Given the description of an element on the screen output the (x, y) to click on. 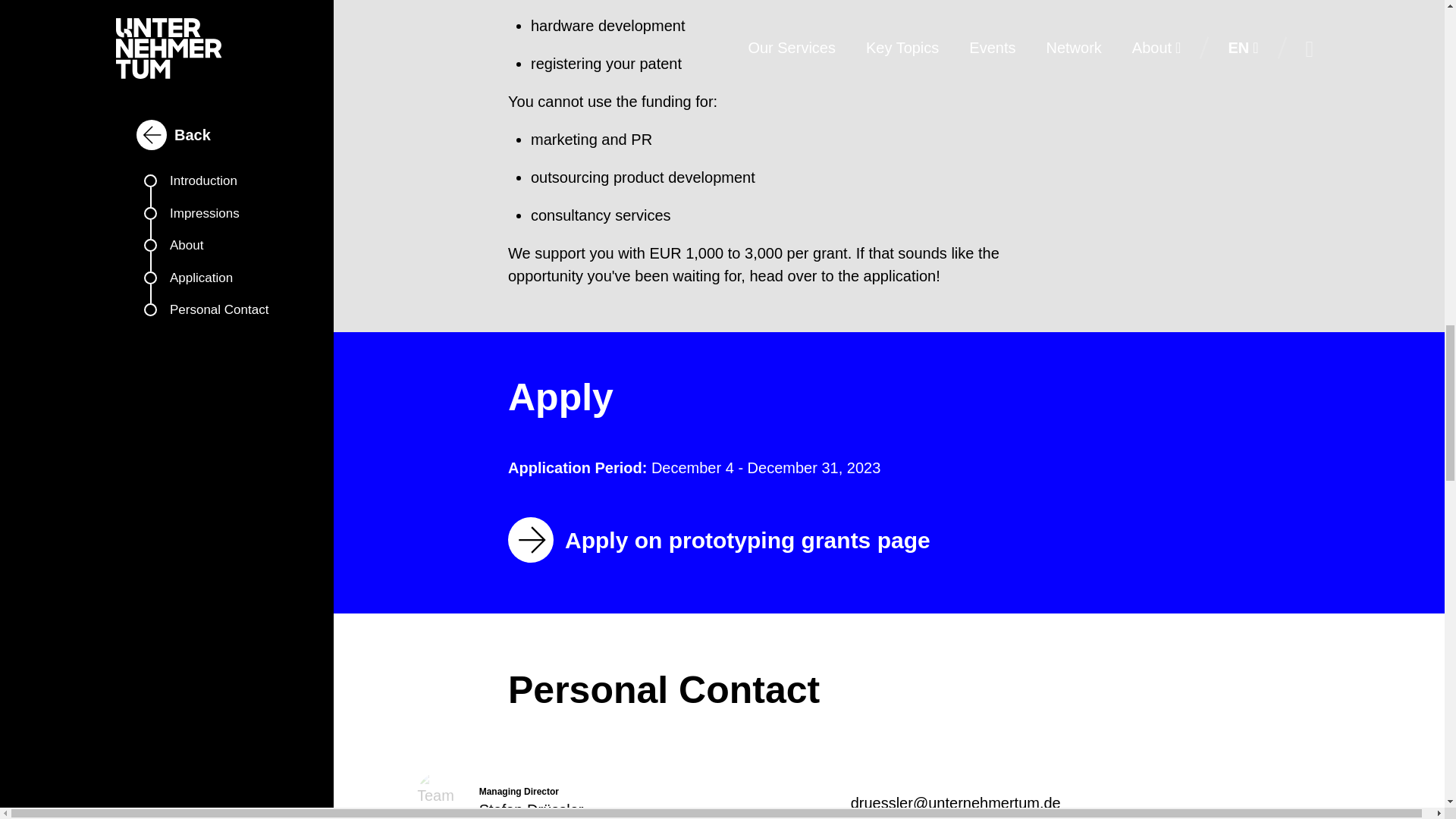
Apply on prototyping grants page (725, 539)
